Given the description of an element on the screen output the (x, y) to click on. 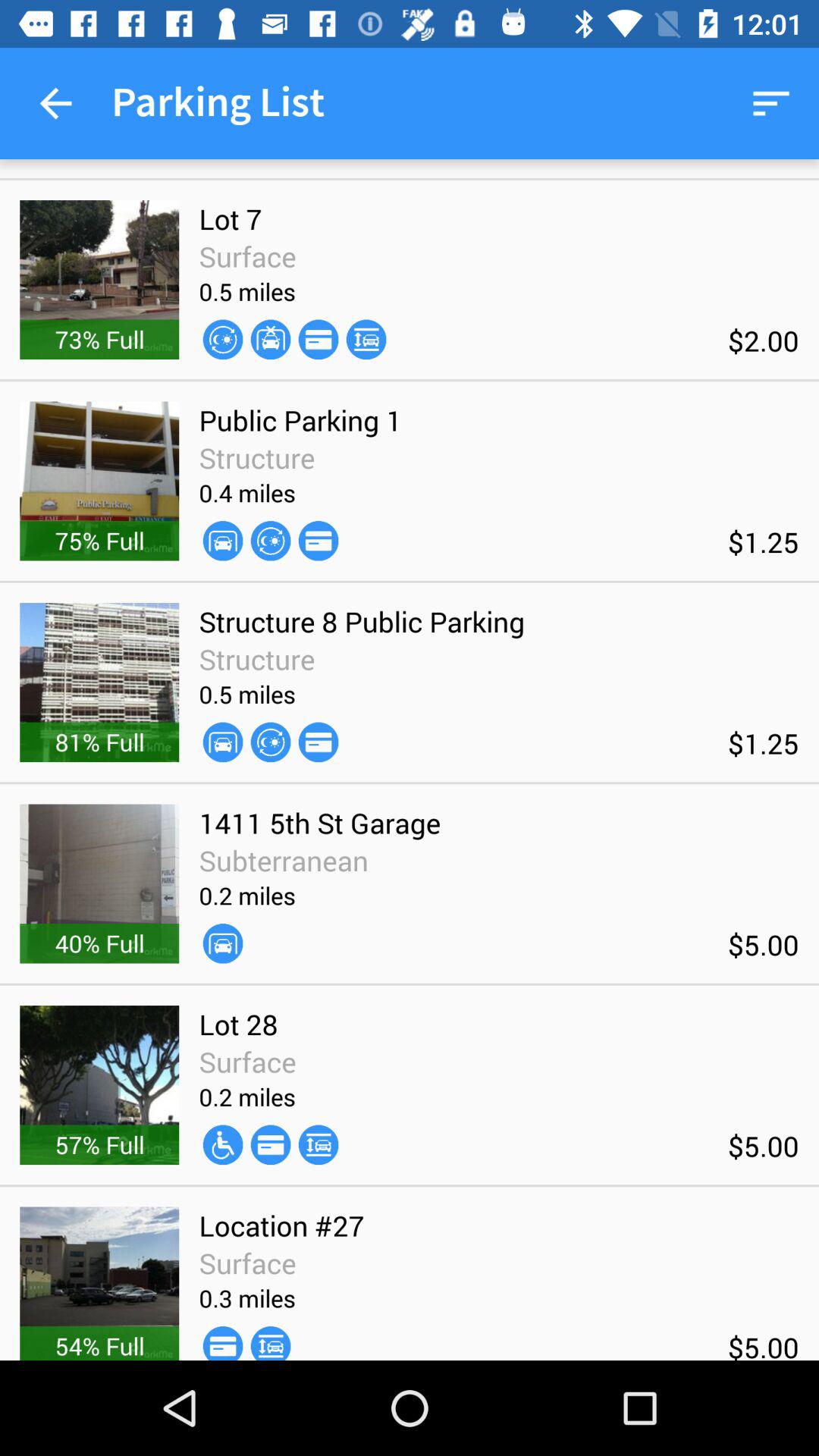
launch item above public parking 1 icon (222, 339)
